Given the description of an element on the screen output the (x, y) to click on. 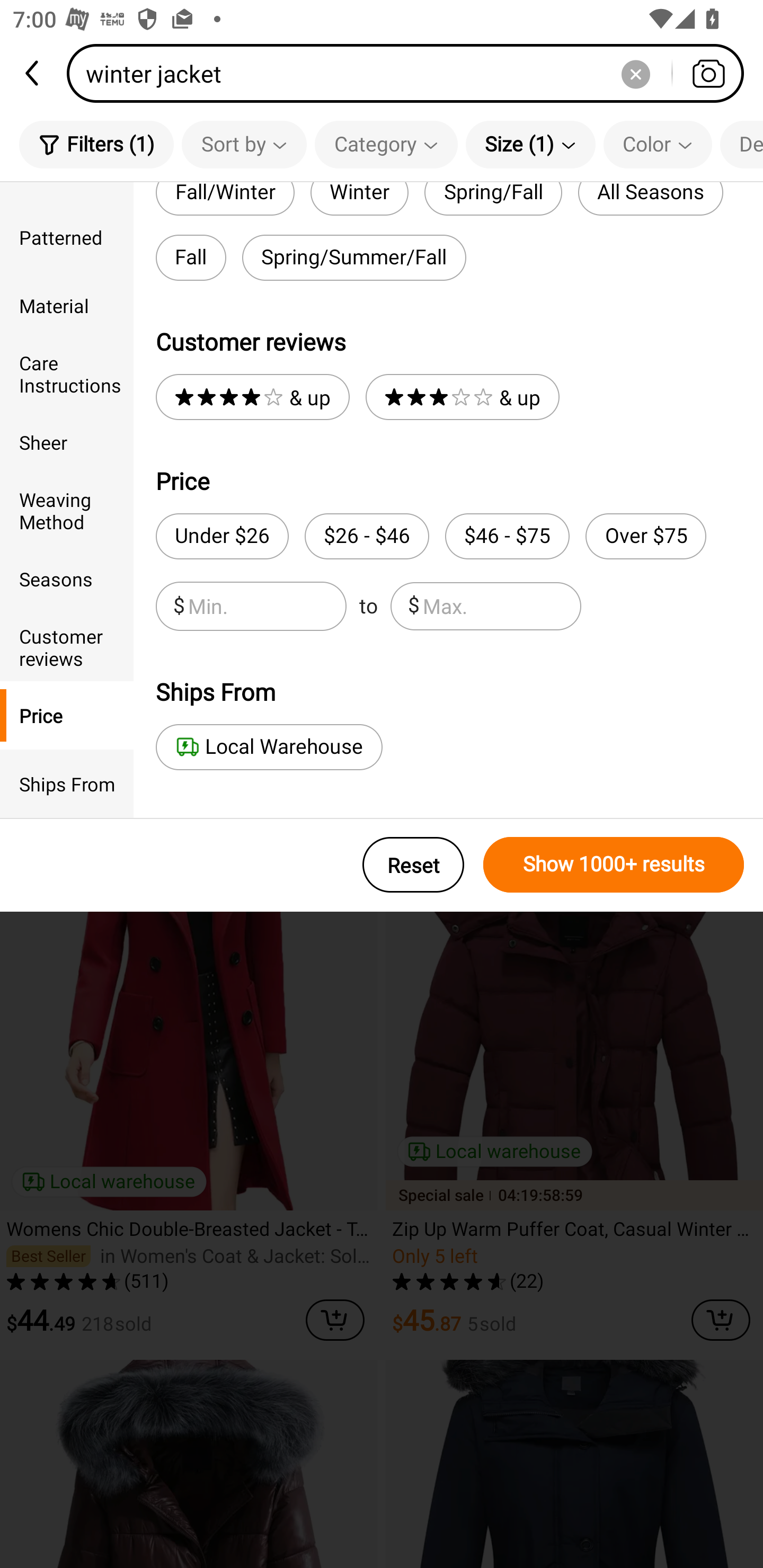
back (33, 72)
winter jacket (411, 73)
Delete search history (635, 73)
Search by photo (708, 73)
Filters (1) (96, 143)
Sort by (243, 143)
Category (385, 143)
Size (1) (530, 143)
Color (657, 143)
Fall/Winter (224, 198)
Winter (359, 198)
Spring/Fall (493, 198)
All Seasons (650, 198)
Patterned (66, 236)
Fall (190, 257)
Spring/Summer/Fall (353, 257)
Material (66, 305)
Care Instructions (66, 373)
& up (252, 397)
& up (462, 397)
Sheer (66, 441)
Weaving Method (66, 510)
Under $26 (221, 535)
$26 - $46 (366, 535)
$46 - $75 (506, 535)
Over $75 (645, 535)
Seasons (66, 578)
$ Min. to $ Max. (368, 605)
Customer reviews (66, 646)
Price (66, 714)
Local Warehouse (268, 746)
Ships From (66, 783)
